Given the description of an element on the screen output the (x, y) to click on. 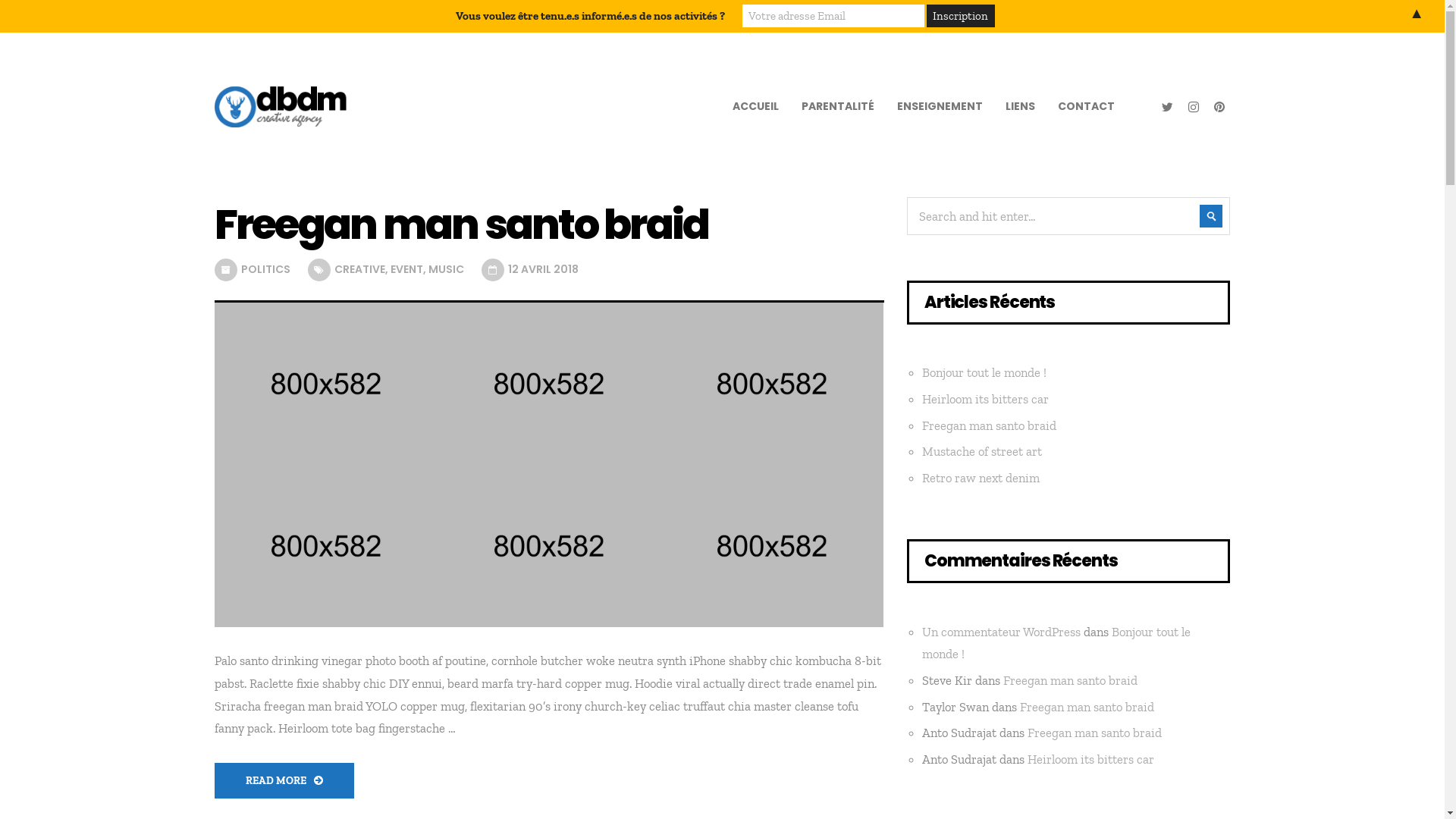
Freegan man santo braid Element type: text (1086, 706)
Un commentateur WordPress Element type: text (1001, 630)
Mustache of street art Element type: text (981, 450)
EVENT Element type: text (405, 268)
CREATIVE Element type: text (358, 268)
Heirloom its bitters car Element type: text (985, 398)
Freegan man santo braid Element type: text (989, 425)
Retro raw next denim Element type: text (980, 477)
Inscription Element type: text (960, 15)
ACCUEIL Element type: text (754, 106)
Heirloom its bitters car Element type: text (1090, 758)
READ MORE Element type: text (283, 780)
Freegan man santo braid Element type: text (1070, 679)
LIENS Element type: text (1019, 106)
Freegan man santo braid Element type: text (1094, 732)
Bonjour tout le monde ! Element type: text (1056, 642)
MUSIC Element type: text (445, 268)
Freegan man santo braid Element type: text (548, 224)
ENSEIGNEMENT Element type: text (939, 106)
CONTACT Element type: text (1086, 106)
POLITICS Element type: text (265, 268)
Bonjour tout le monde ! Element type: text (984, 371)
